Given the description of an element on the screen output the (x, y) to click on. 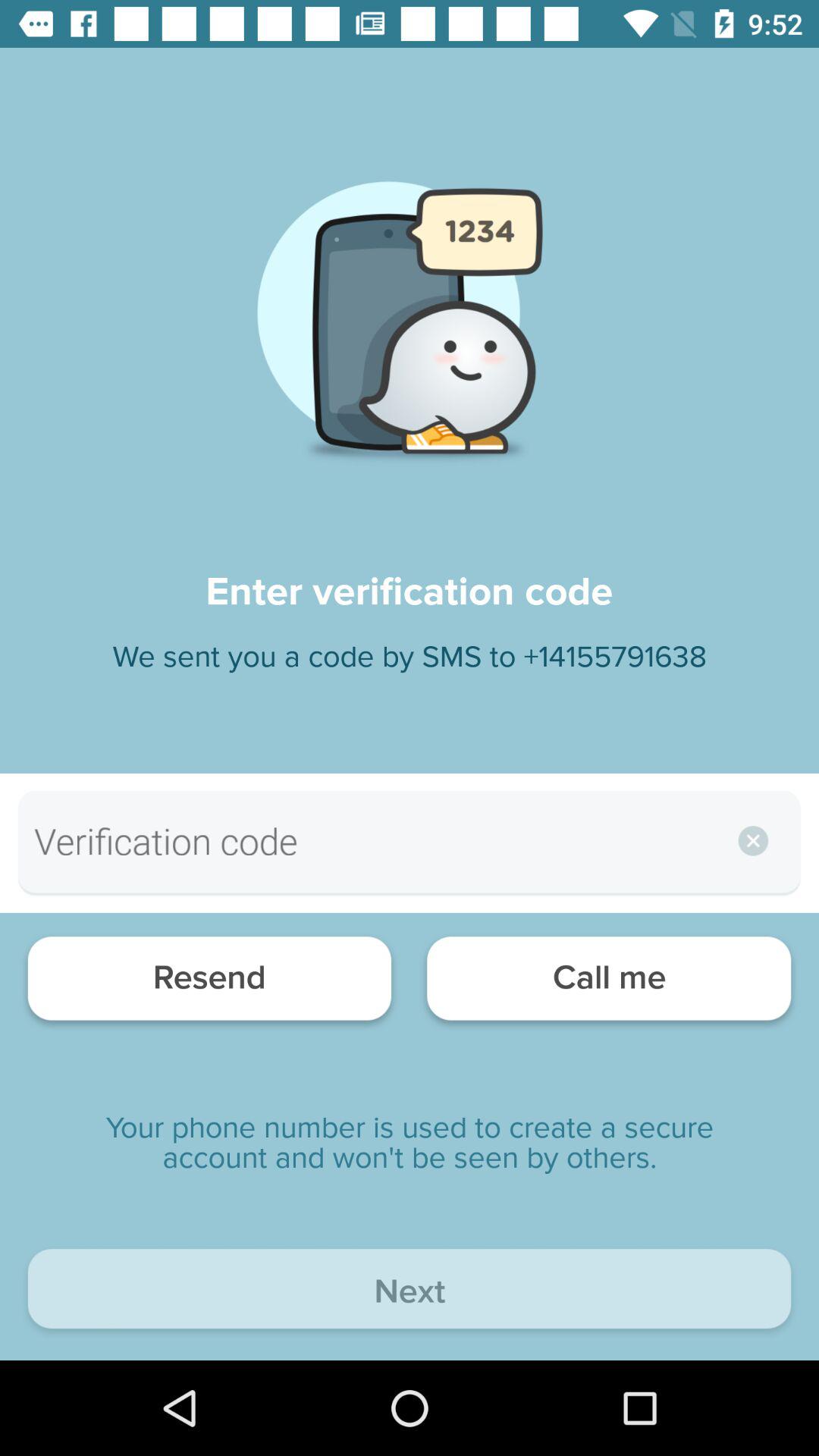
open the item at the bottom left corner (209, 982)
